Given the description of an element on the screen output the (x, y) to click on. 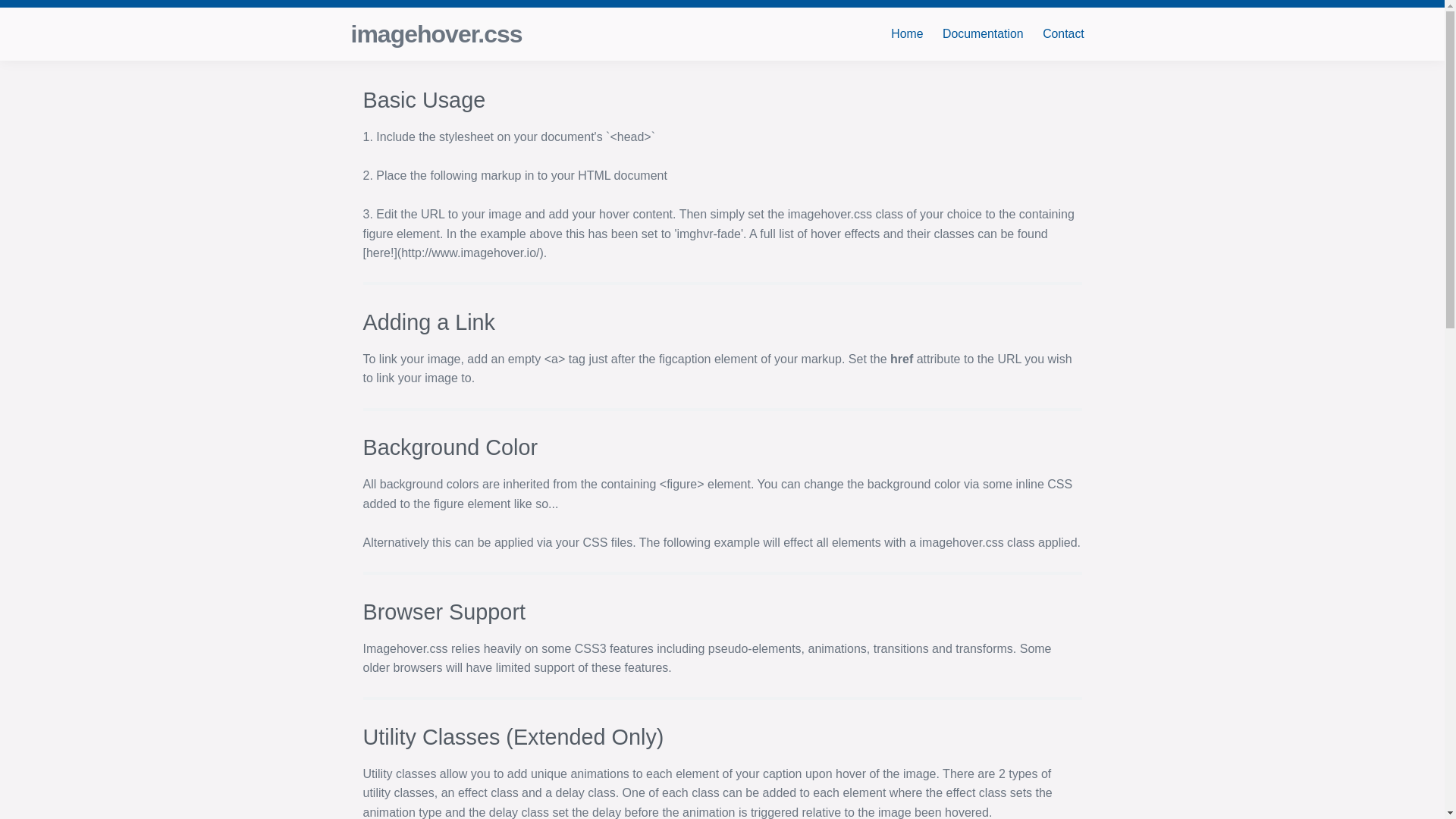
Contact (1062, 33)
imagehover.css (435, 33)
Home (906, 33)
Documentation (982, 33)
